Given the description of an element on the screen output the (x, y) to click on. 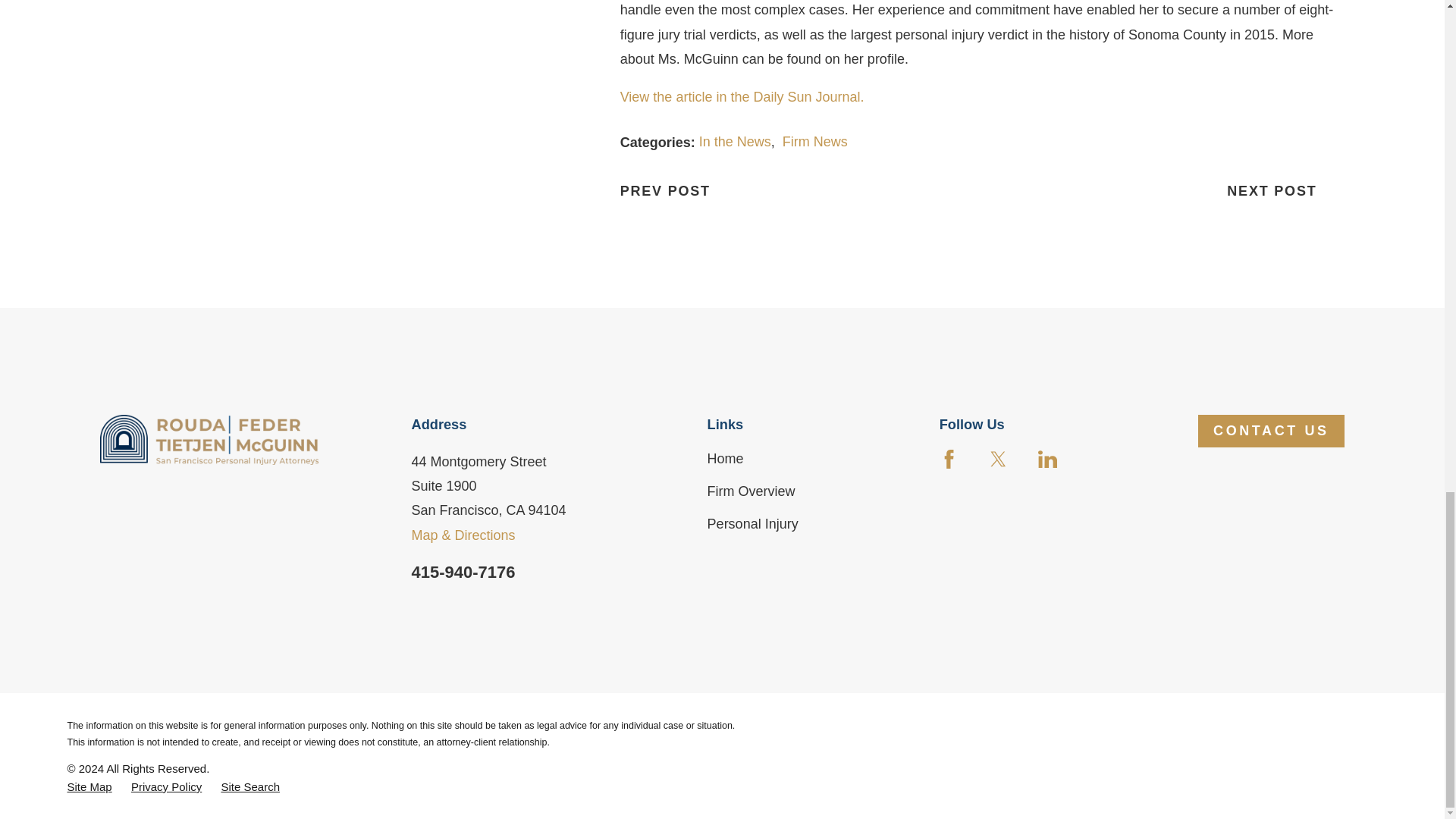
Facebook (948, 458)
Twitter (997, 458)
LinkedIn (1047, 458)
Home (209, 439)
